Given the description of an element on the screen output the (x, y) to click on. 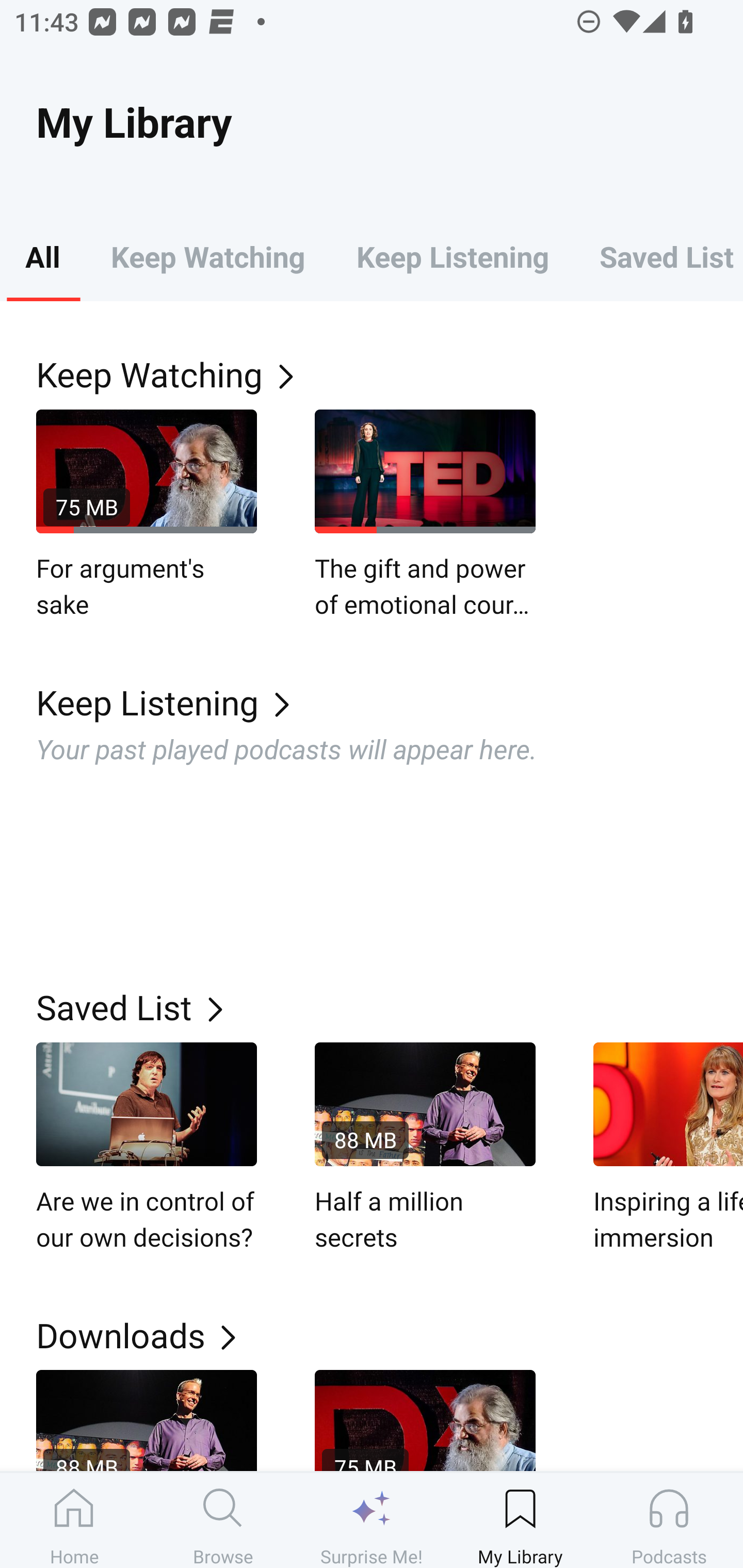
All (42, 256)
Keep Watching (207, 256)
Keep Listening (452, 256)
Saved List (658, 256)
Keep Watching (389, 373)
75 MB For argument's sake (146, 514)
The gift and power of emotional courage (425, 514)
Keep Listening (389, 702)
Saved List (389, 1007)
Are we in control of our own decisions? (146, 1148)
88 MB Half a million secrets (425, 1148)
Inspiring a life of immersion (668, 1148)
Downloads (389, 1334)
88 MB (146, 1420)
75 MB (425, 1420)
Home (74, 1520)
Browse (222, 1520)
Surprise Me! (371, 1520)
My Library (519, 1520)
Podcasts (668, 1520)
